Given the description of an element on the screen output the (x, y) to click on. 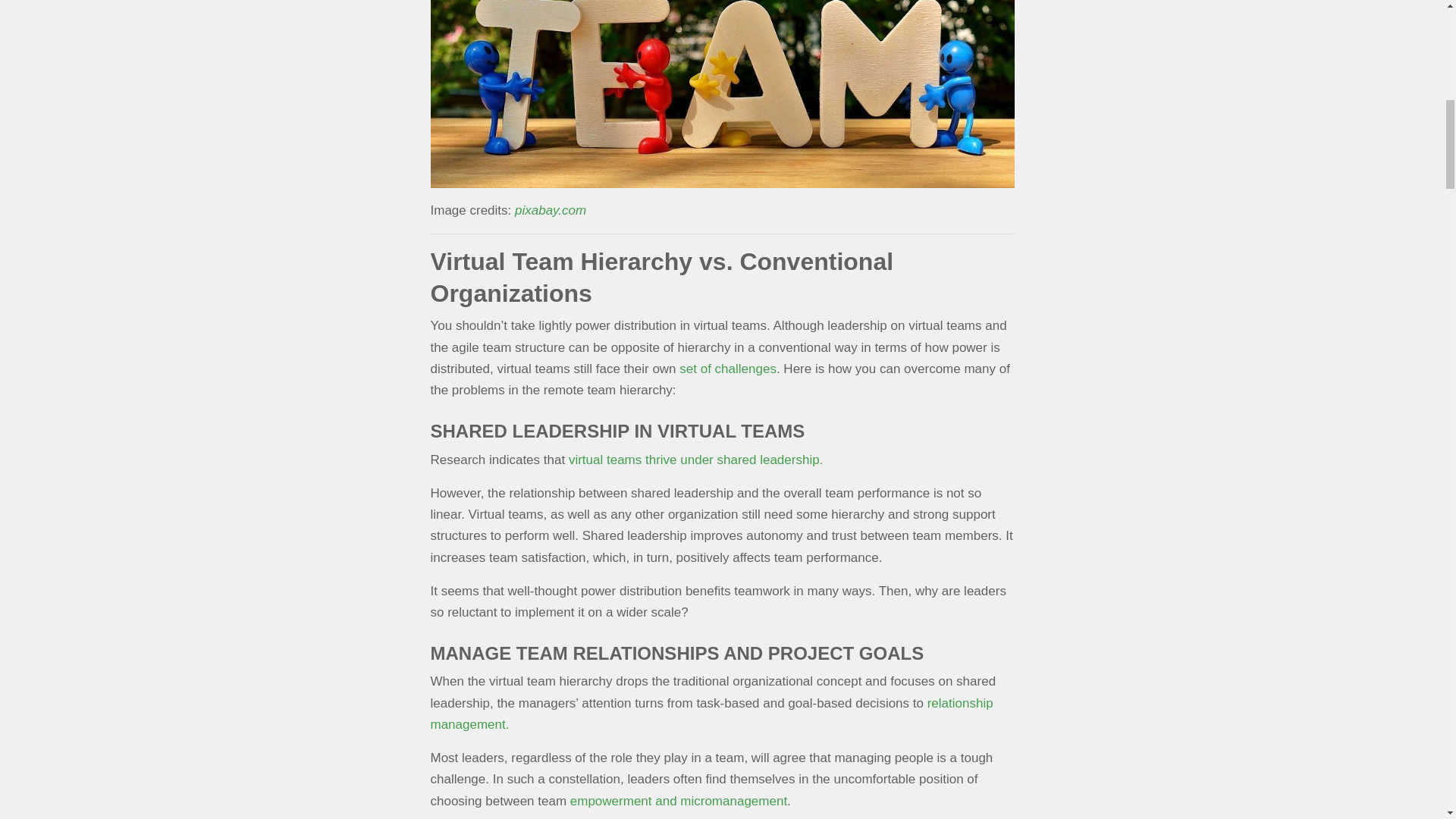
relationship management. (711, 714)
pixabay.com (550, 210)
empowerment and micromanagement (678, 800)
virtual teams thrive under shared leadership. (695, 459)
set of challenges (727, 368)
